Given the description of an element on the screen output the (x, y) to click on. 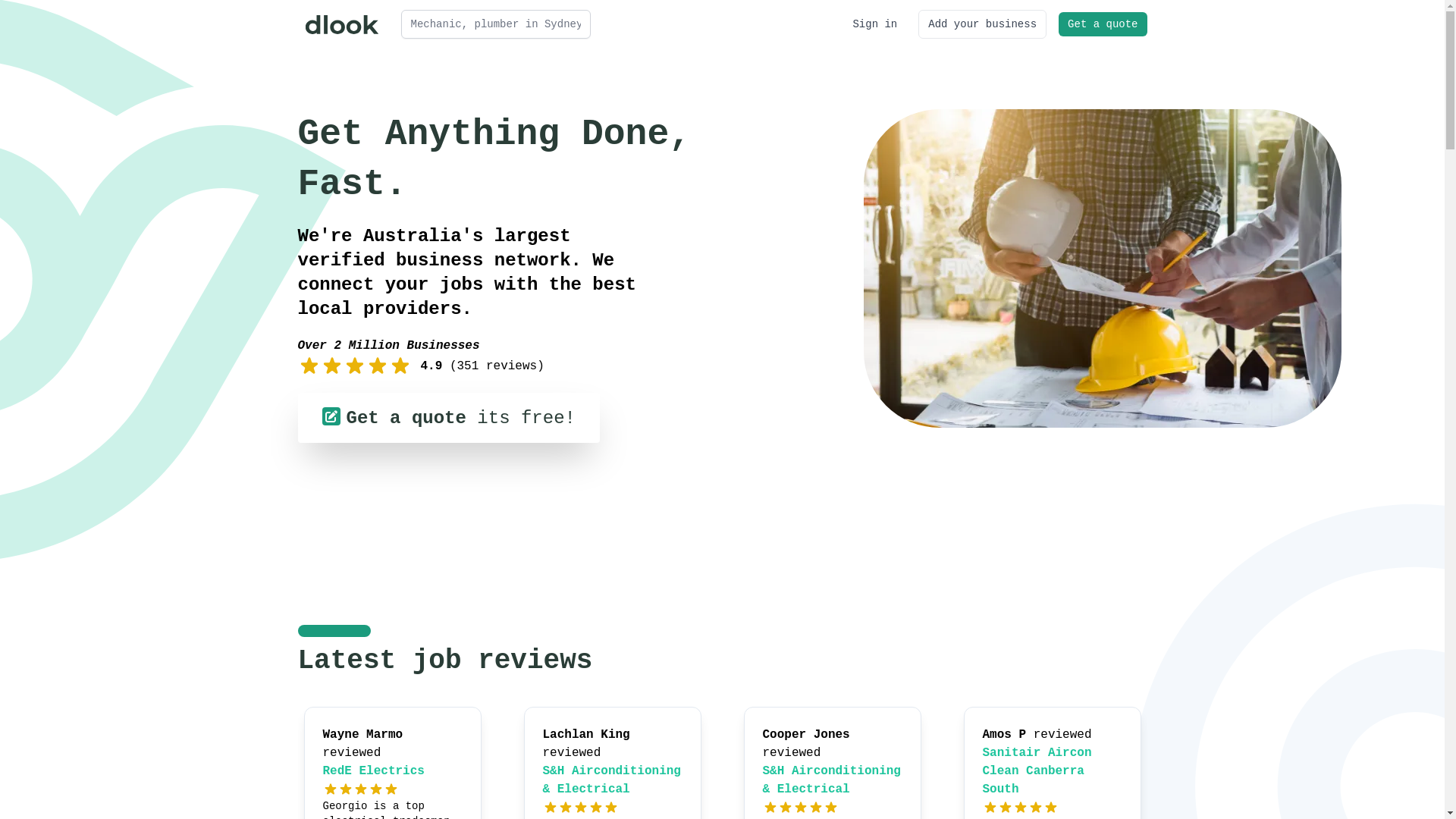
Sign in Element type: text (874, 23)
Add your business Element type: text (982, 23)
S&H Airconditioning & Electrical Element type: text (611, 780)
Get a quote its free! Element type: text (448, 417)
Sanitair Aircon Clean Canberra South Element type: text (1037, 771)
RedE Electrics Element type: text (373, 771)
S&H Airconditioning & Electrical Element type: text (831, 780)
Get a quote Element type: text (1102, 24)
